Given the description of an element on the screen output the (x, y) to click on. 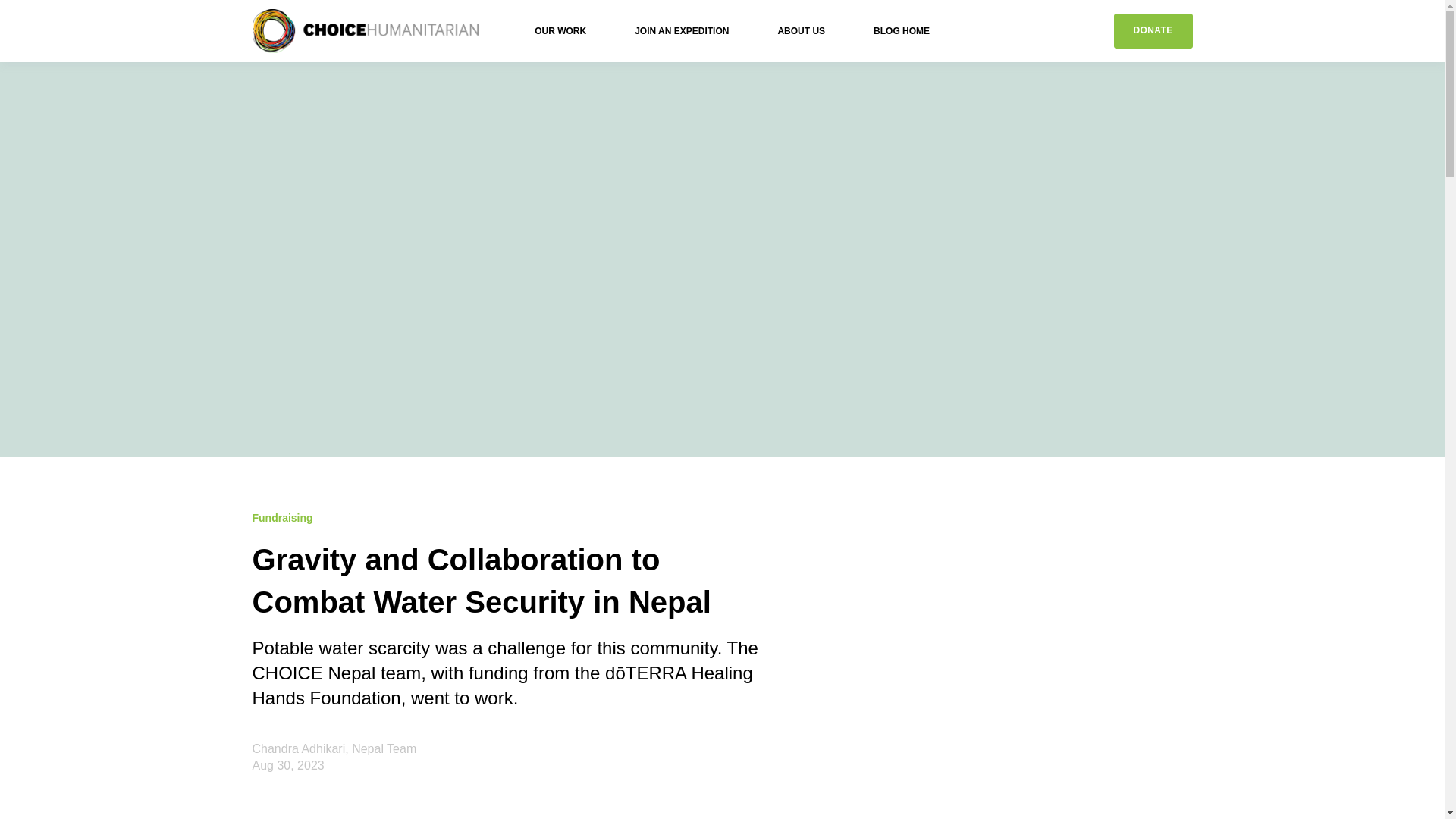
ABOUT US (801, 30)
DONATE (1152, 30)
JOIN AN EXPEDITION (681, 30)
BLOG HOME (901, 30)
Chandra Adhikari, Nepal Team (333, 748)
OUR WORK (560, 30)
